Given the description of an element on the screen output the (x, y) to click on. 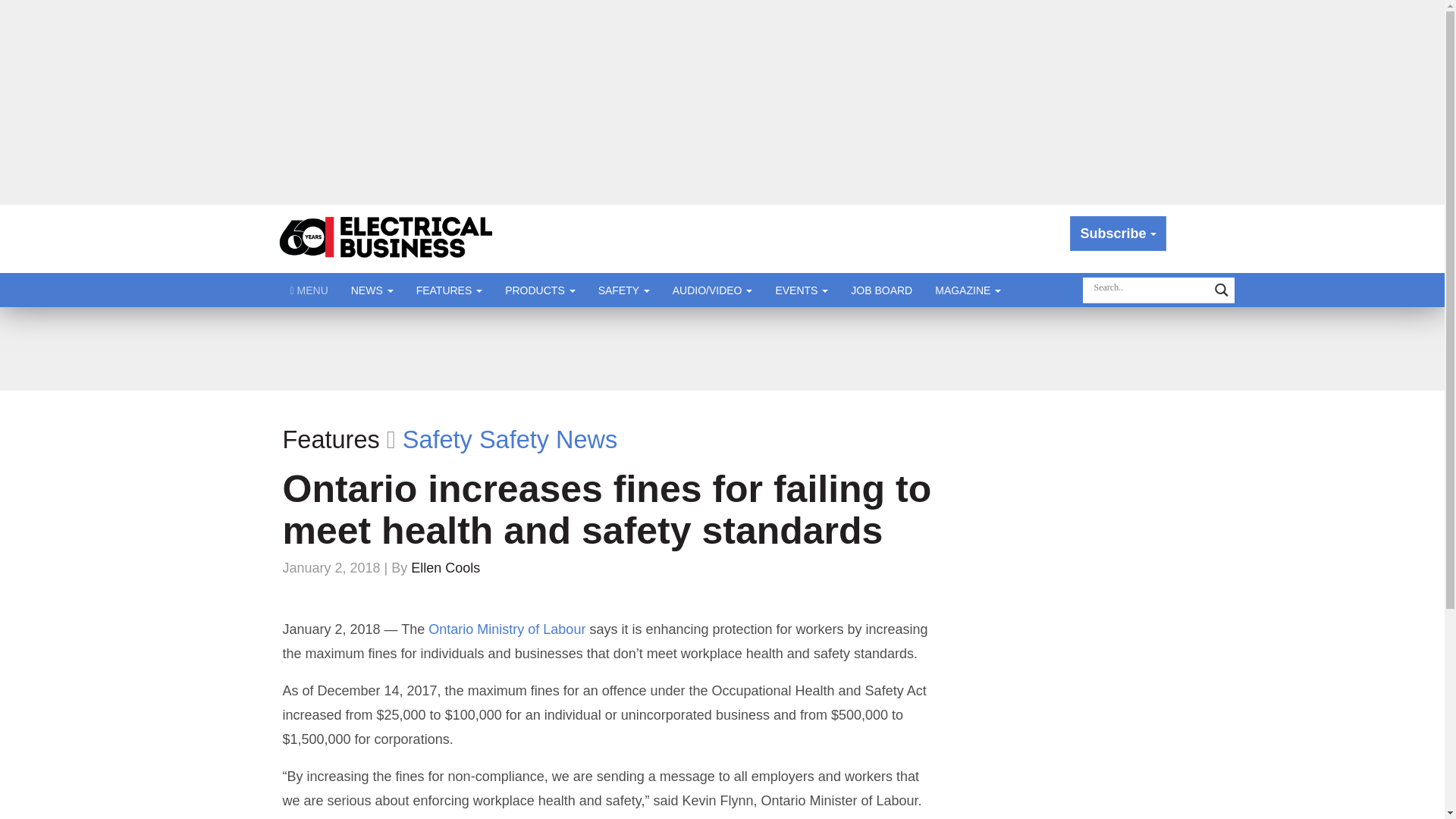
NEWS (371, 289)
Electrical Business (387, 237)
Click to show site navigation (309, 289)
PRODUCTS (539, 289)
FEATURES (449, 289)
MENU (309, 289)
Subscribe (1118, 233)
3rd party ad content (721, 348)
SAFETY (623, 289)
